Given the description of an element on the screen output the (x, y) to click on. 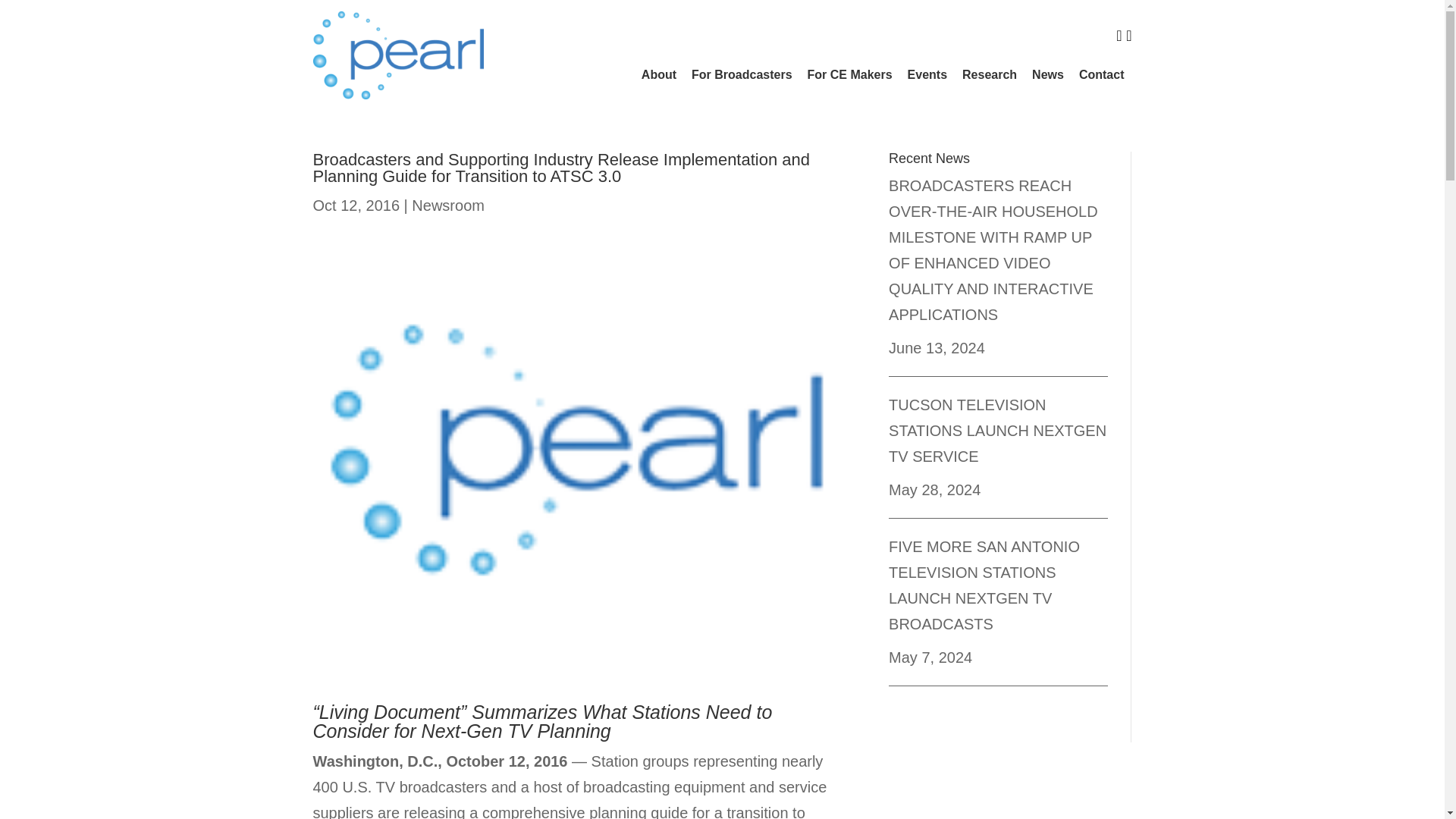
Pearl TV (398, 55)
About (658, 74)
TUCSON TELEVISION STATIONS LAUNCH NEXTGEN TV SERVICE (997, 430)
News (1048, 74)
Newsroom (448, 205)
Research (990, 74)
Events (927, 74)
Contact (1101, 74)
For Broadcasters (741, 74)
For CE Makers (849, 74)
